Given the description of an element on the screen output the (x, y) to click on. 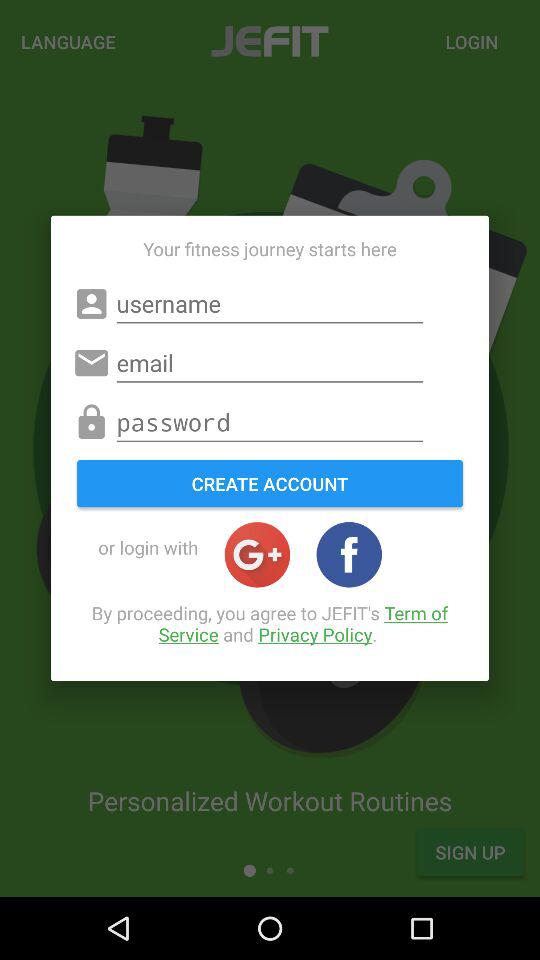
login google+ (257, 554)
